Given the description of an element on the screen output the (x, y) to click on. 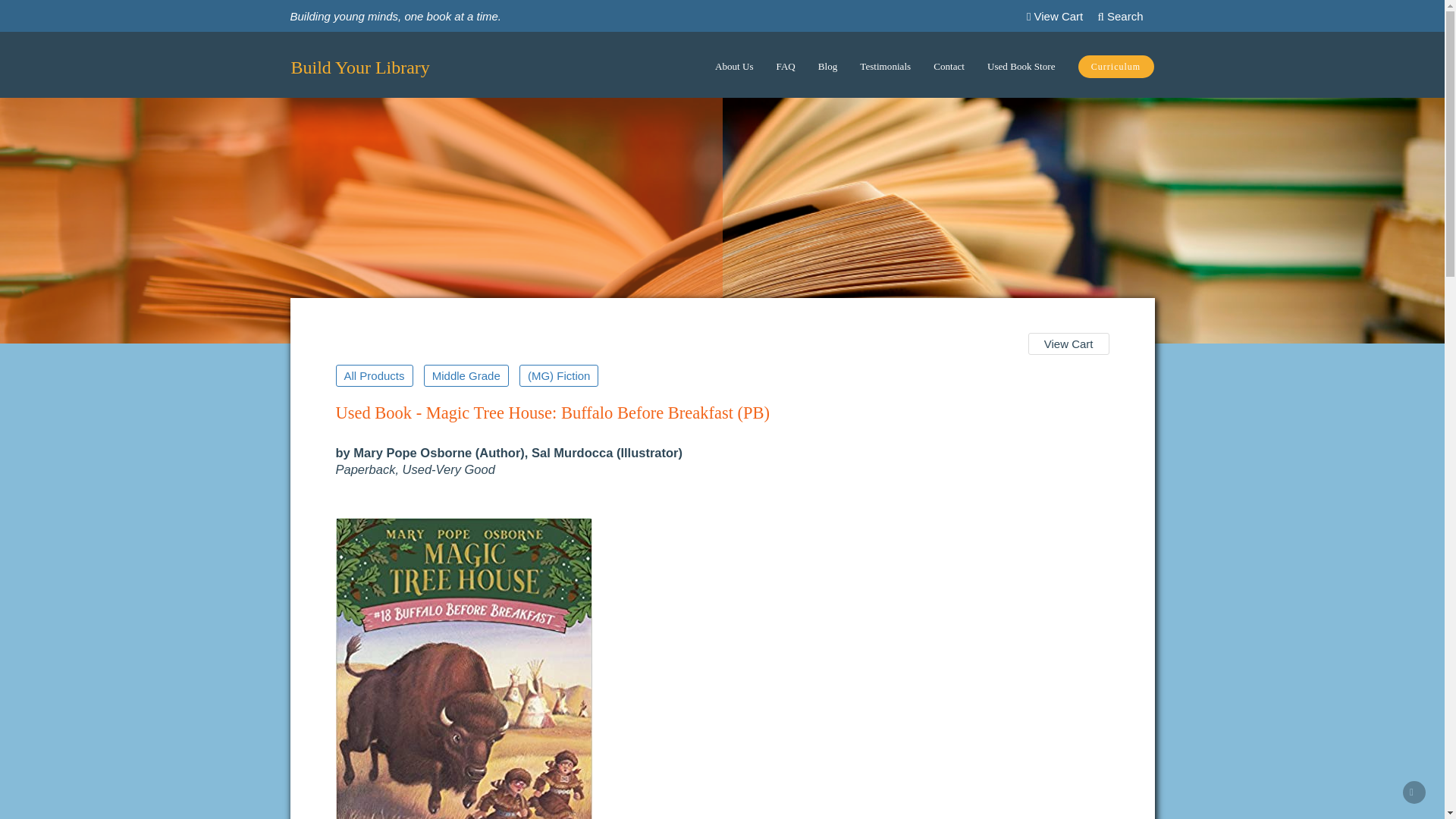
Testimonials (884, 66)
Contact (948, 66)
View Cart (1068, 343)
Curriculum (1114, 68)
About Us (734, 66)
Build Your Library (360, 66)
All Products (373, 375)
Search (1119, 15)
View Cart (1054, 15)
Middle Grade (465, 375)
FAQ (785, 66)
Blog (827, 66)
Used Book Store (1021, 66)
